Given the description of an element on the screen output the (x, y) to click on. 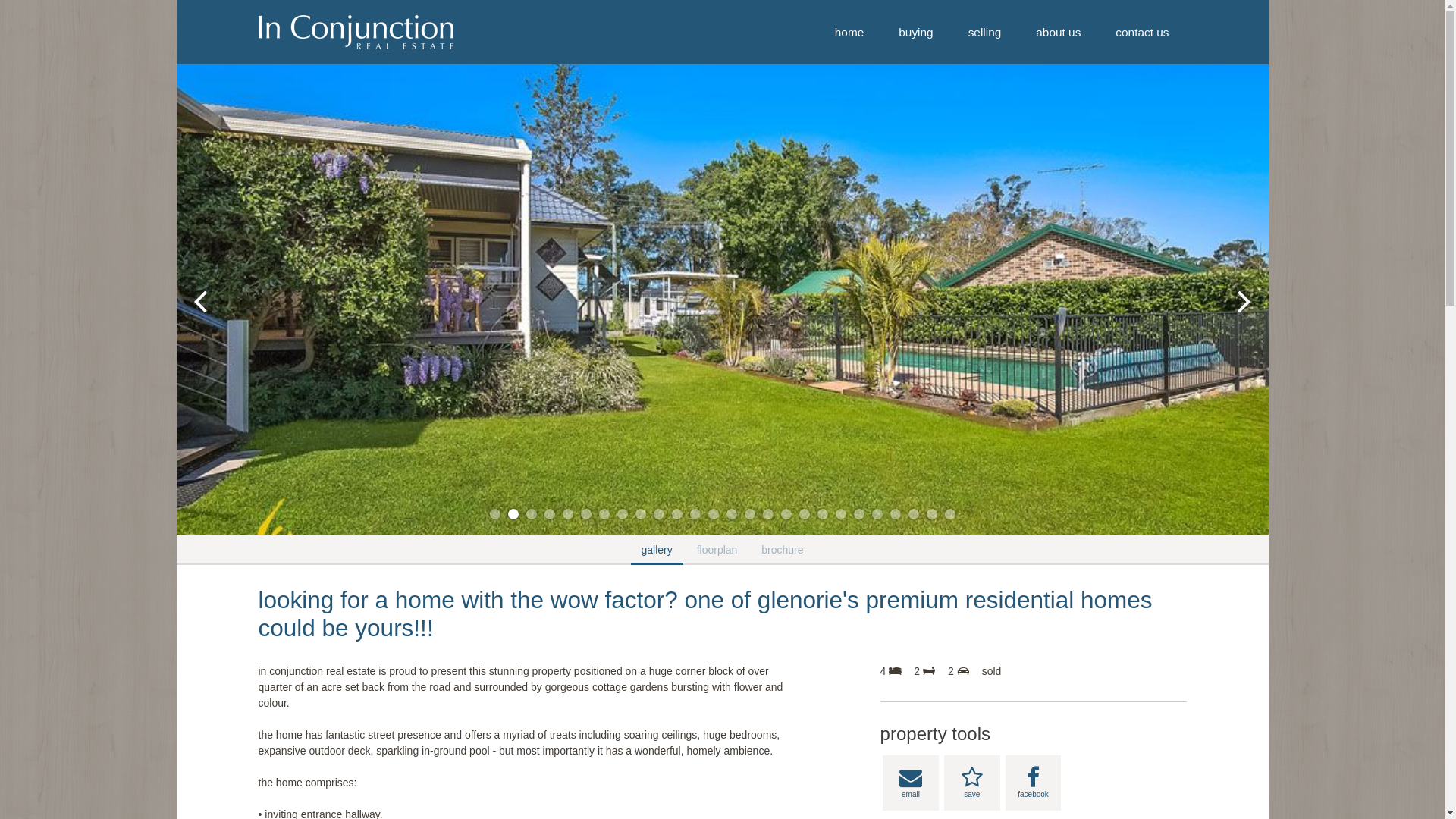
about us Element type: text (1058, 32)
facebook Element type: text (1033, 782)
in conjunction real estate -  Element type: hover (354, 32)
floorplan Element type: text (717, 549)
email Element type: text (910, 782)
save Element type: text (972, 782)
selling Element type: text (984, 32)
contact us Element type: text (1142, 32)
home Element type: text (849, 32)
buying Element type: text (915, 32)
gallery Element type: text (656, 549)
brochure Element type: text (781, 549)
